Given the description of an element on the screen output the (x, y) to click on. 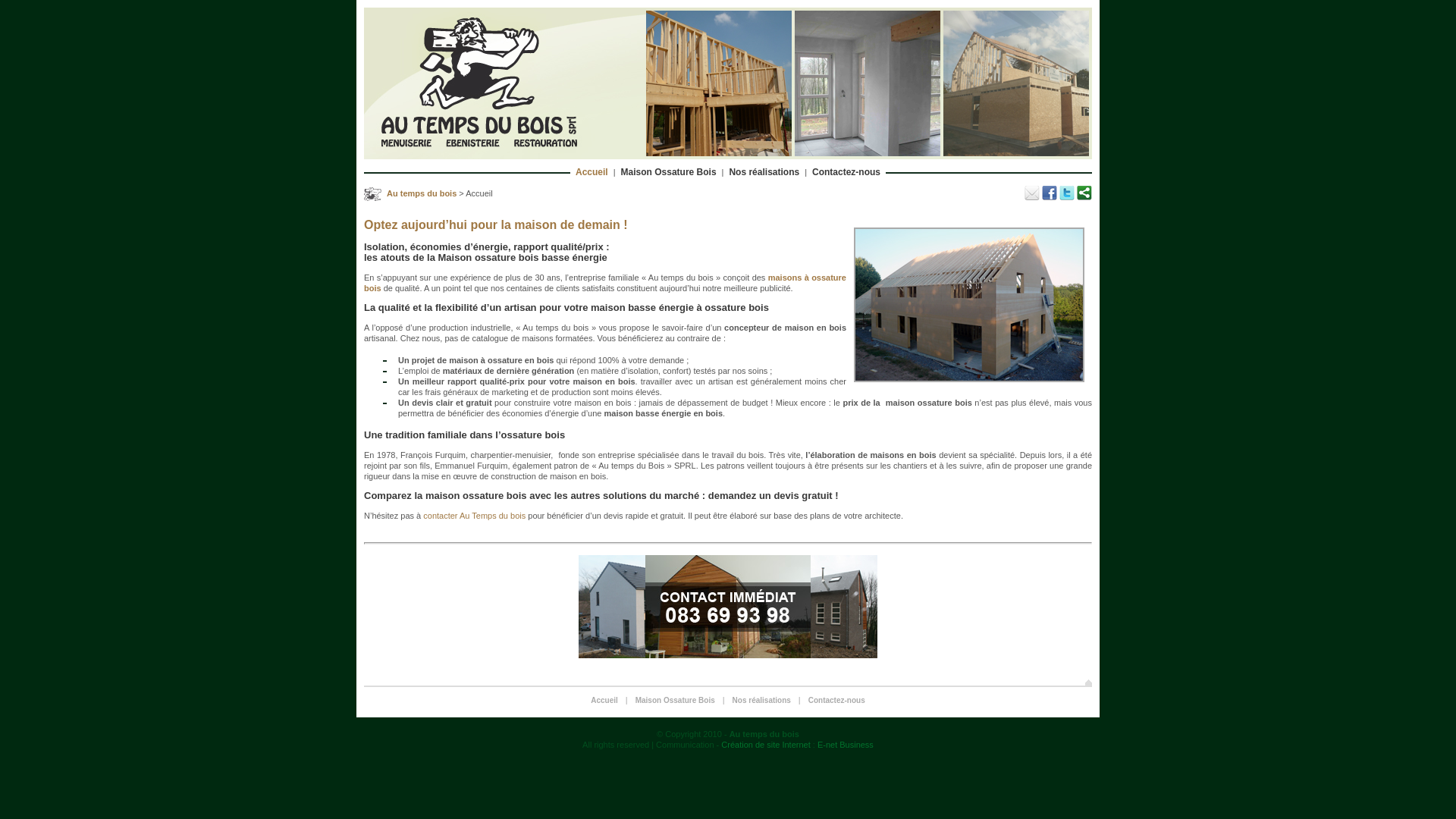
Accueil Element type: text (604, 700)
E-net Business Element type: text (845, 744)
Contactez-nous Element type: text (836, 700)
contacter Au Temps du bois Element type: text (474, 515)
Accueil Element type: text (591, 171)
Au temps du bois Element type: text (421, 192)
Haut de page Element type: hover (1088, 682)
Maison Ossature Bois Element type: text (668, 171)
Maison Ossature Bois Element type: text (675, 700)
Contactez-nous Element type: text (846, 171)
